Given the description of an element on the screen output the (x, y) to click on. 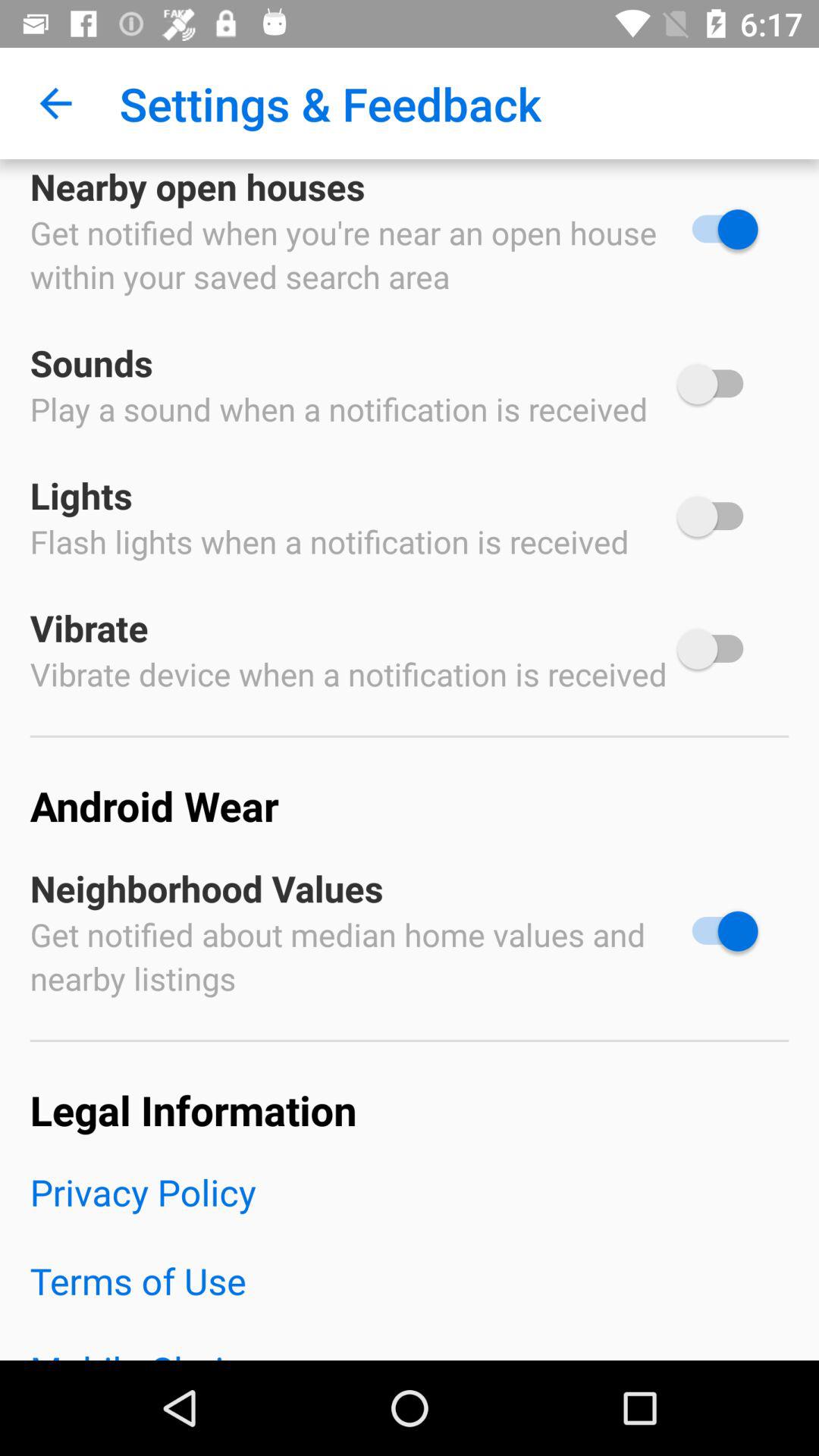
click the item above the terms of use icon (409, 1211)
